Given the description of an element on the screen output the (x, y) to click on. 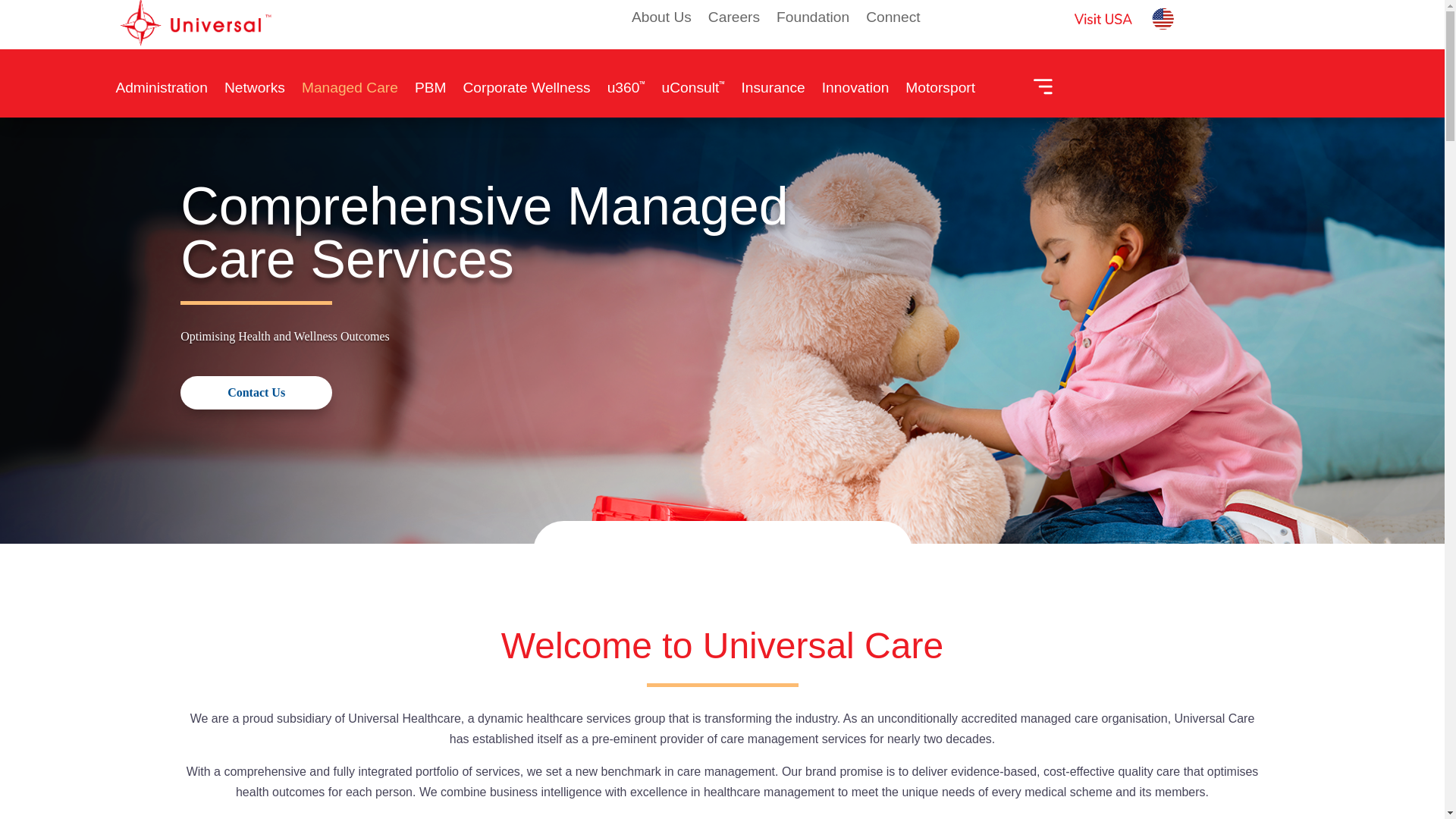
Insurance (773, 92)
Connect (893, 19)
About Us (661, 19)
uConsultTM (693, 92)
PBM (430, 92)
Motorsport (940, 92)
Innovation (855, 92)
Networks (254, 92)
Careers (733, 19)
Contact Us (255, 391)
Foundation (812, 19)
Corporate Wellness (526, 92)
u360TM (626, 92)
Managed Care (349, 92)
Administration (161, 92)
